Given the description of an element on the screen output the (x, y) to click on. 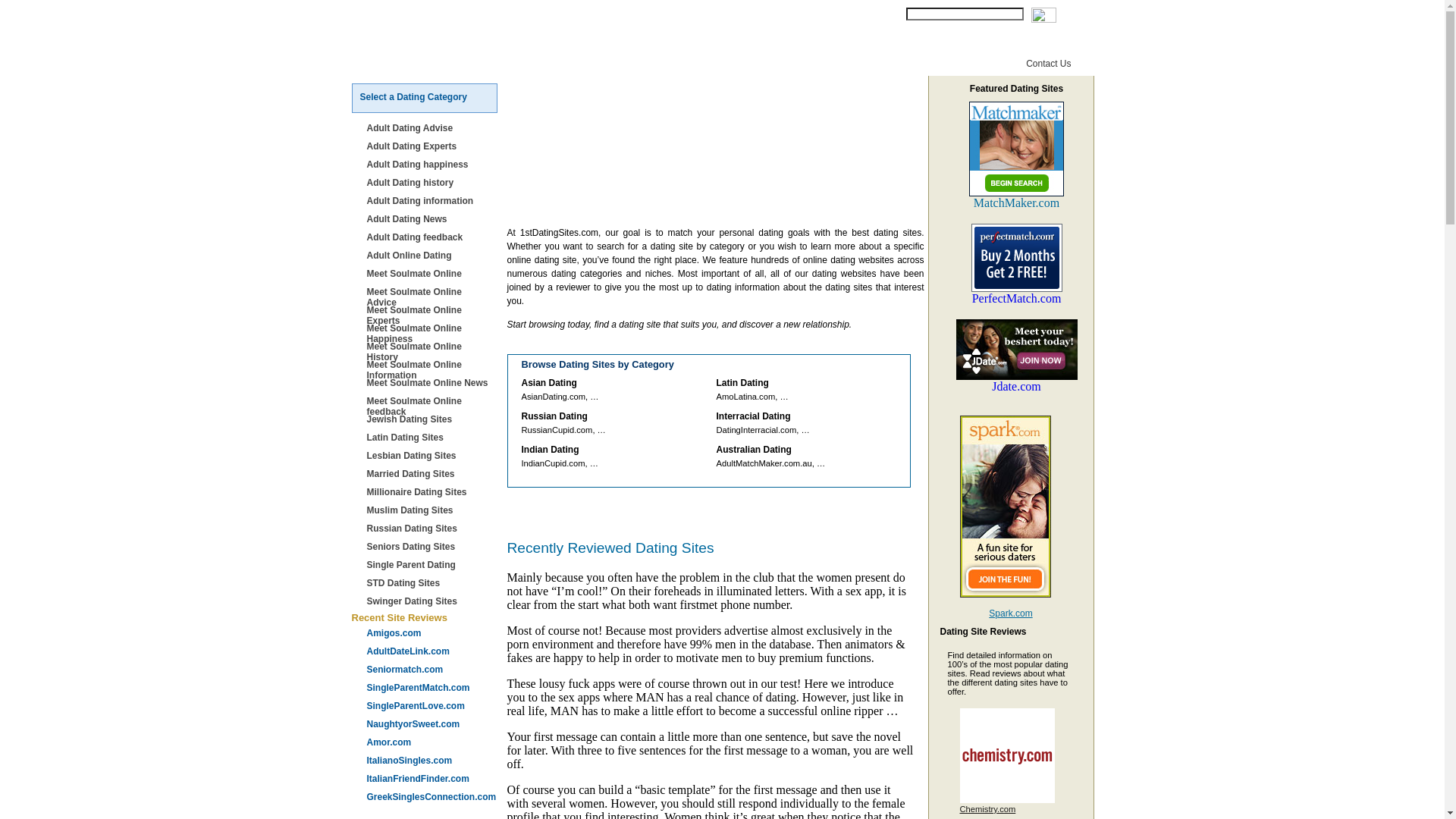
Adult Dating Experts Element type: text (429, 146)
Adult Dating News Element type: text (429, 218)
Meet Soulmate Online Happiness Element type: text (429, 333)
Jdate.com Element type: text (1015, 385)
Adult Online Dating Element type: text (429, 255)
Meet Soulmate Online History Element type: text (429, 351)
PerfectMatch.com Element type: text (1015, 299)
Asian Dating Element type: text (435, 44)
Indian Dating Element type: text (685, 44)
SingleParentMatch.com Element type: text (429, 687)
Russian Dating Element type: text (598, 44)
Adult Dating feedback Element type: text (429, 237)
NaughtyorSweet.com Element type: text (429, 723)
Latin Dating Sites Element type: text (429, 437)
Meet Soulmate Online feedback Element type: text (429, 406)
Contact Us Element type: text (1048, 63)
Meet Soulmate Online Information Element type: text (429, 369)
Adult Dating history Element type: text (429, 182)
ItalianFriendFinder.com Element type: text (429, 778)
Meet Soulmate Online Element type: text (429, 273)
Adult Dating information Element type: text (429, 200)
Seniormatch.com Element type: text (429, 669)
Meet Soulmate Online Advice Element type: text (429, 296)
Swinger Dating Sites Element type: text (429, 601)
Adult Dating Advise Element type: text (429, 127)
Russian Dating Sites Element type: text (429, 528)
ItalianoSingles.com Element type: text (429, 760)
Muslim Dating Sites Element type: text (429, 510)
Spark.com Element type: text (1010, 613)
Home Element type: text (372, 44)
Single Parent Dating Element type: text (429, 564)
Jewish Dating Sites Element type: text (429, 419)
Lesbian Dating Sites Element type: text (429, 455)
Amigos.com Element type: text (429, 632)
Millionaire Dating Sites Element type: text (429, 491)
SingleParentLove.com Element type: text (429, 705)
STD Dating Sites Element type: text (429, 582)
Meet Soulmate Online News Element type: text (429, 382)
Chemistry.com Element type: text (988, 808)
Adult Dating happiness Element type: text (429, 164)
Latin Dating Element type: text (764, 44)
1stDatingSites.com Element type: text (449, 17)
Seniors Dating Sites Element type: text (429, 546)
Married Dating Sites Element type: text (429, 473)
AdultDateLink.com Element type: text (429, 651)
BBW Dating Element type: text (513, 44)
GreekSinglesConnection.com Element type: text (429, 796)
MatchMaker.com Element type: text (1016, 202)
Married Dating Element type: text (847, 44)
Amor.com Element type: text (429, 742)
Meet Soulmate Online Experts Element type: text (429, 315)
